Given the description of an element on the screen output the (x, y) to click on. 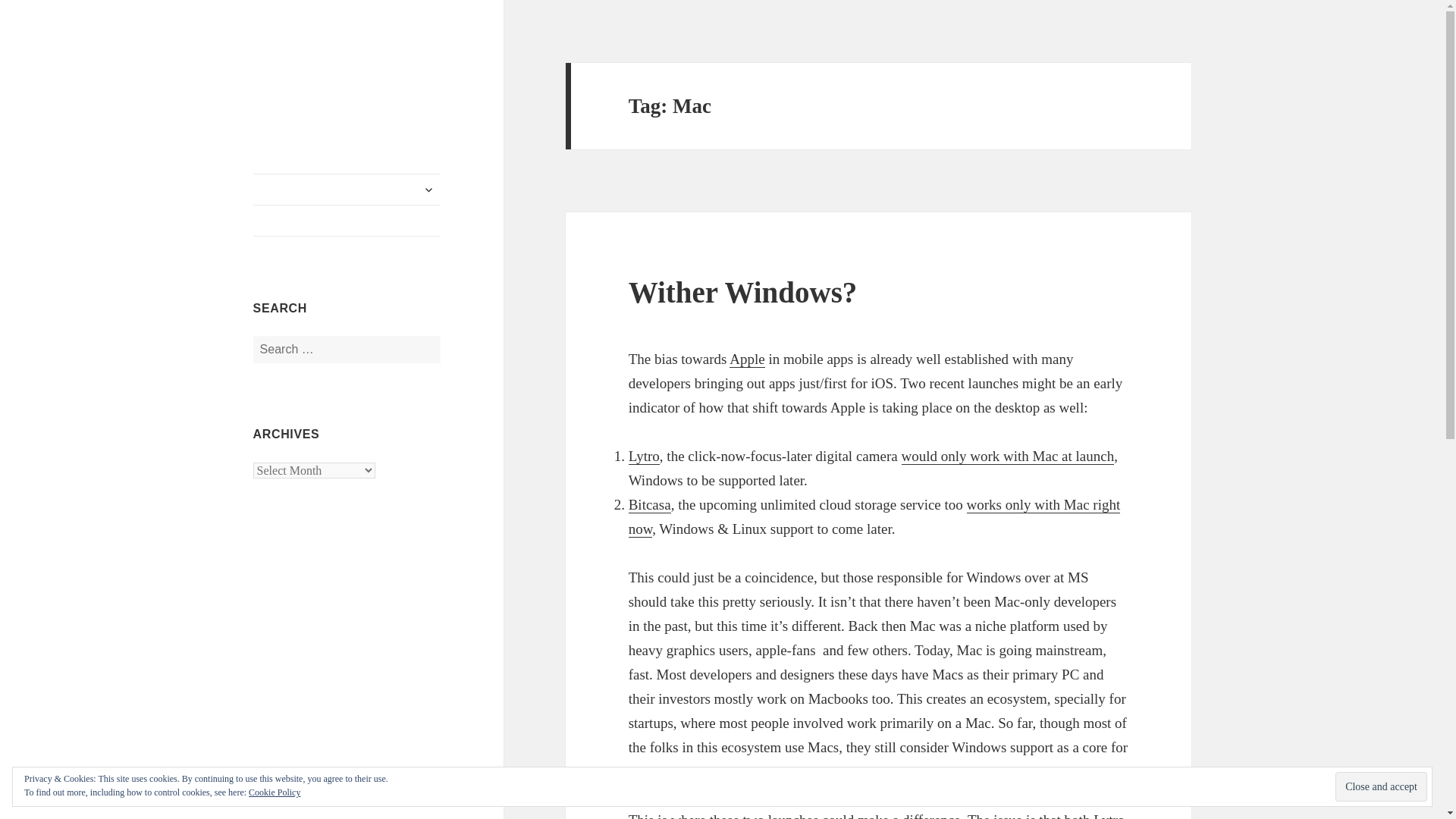
Cookie Policy (273, 792)
Close and accept (1380, 786)
Apple (746, 359)
Converge (300, 74)
Lytro (643, 456)
Bitcasa (649, 504)
expand child menu (428, 189)
Wither Windows? (742, 292)
